Given the description of an element on the screen output the (x, y) to click on. 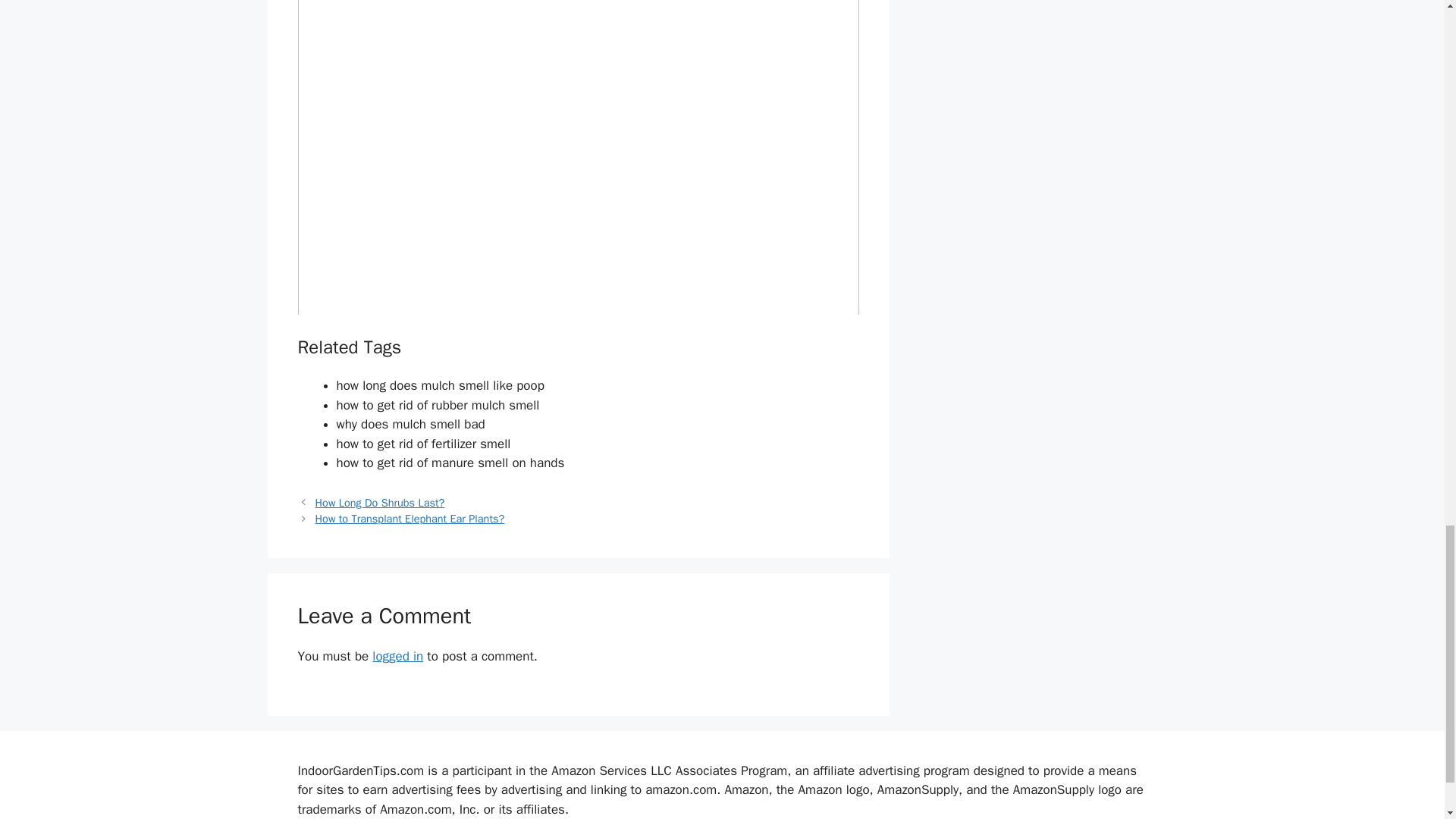
logged in (397, 656)
How Long Do Shrubs Last? (380, 502)
How to Transplant Elephant Ear Plants? (410, 518)
